Given the description of an element on the screen output the (x, y) to click on. 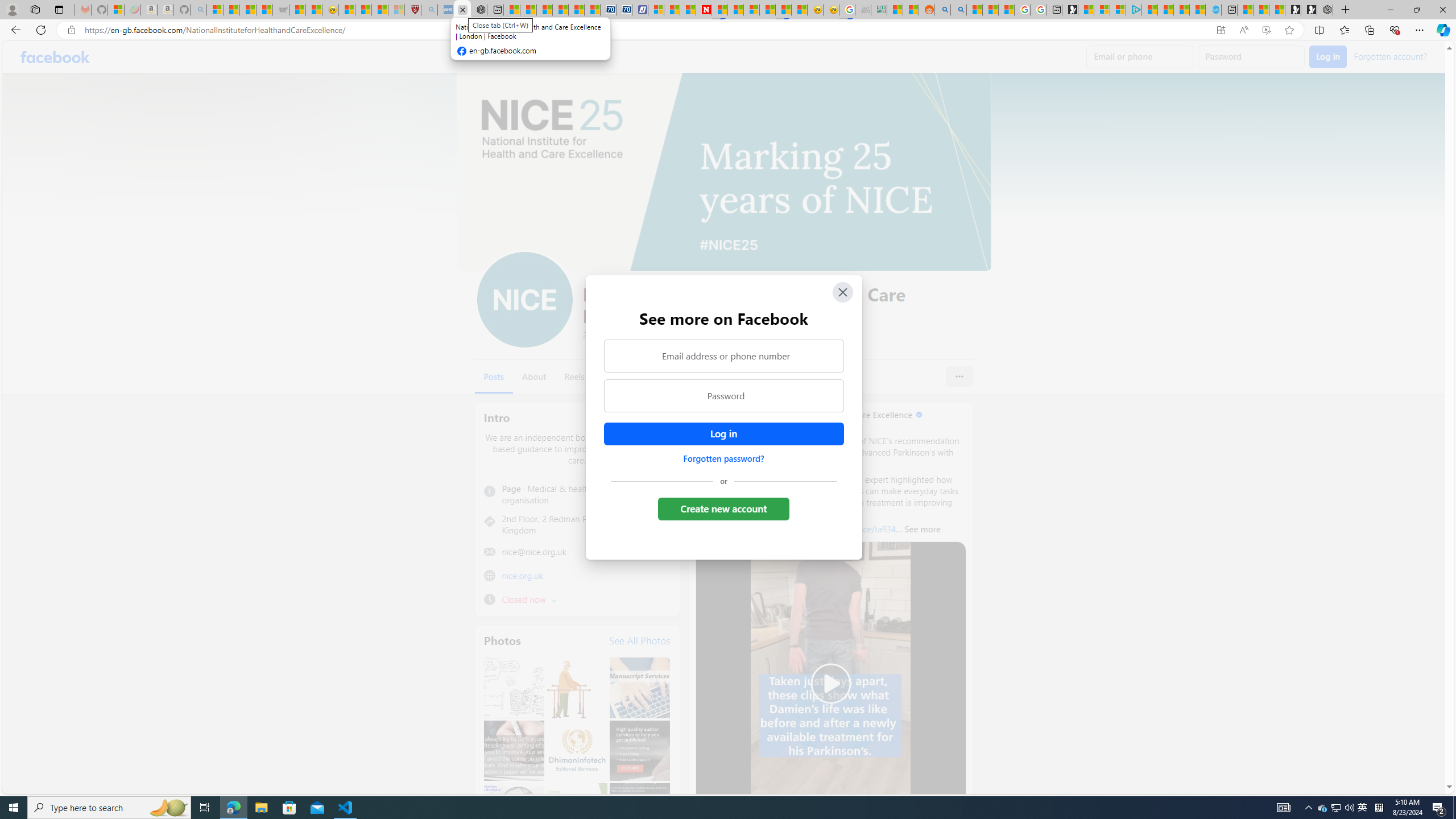
Cheap Hotels - Save70.com (624, 9)
Create new account (724, 508)
